Given the description of an element on the screen output the (x, y) to click on. 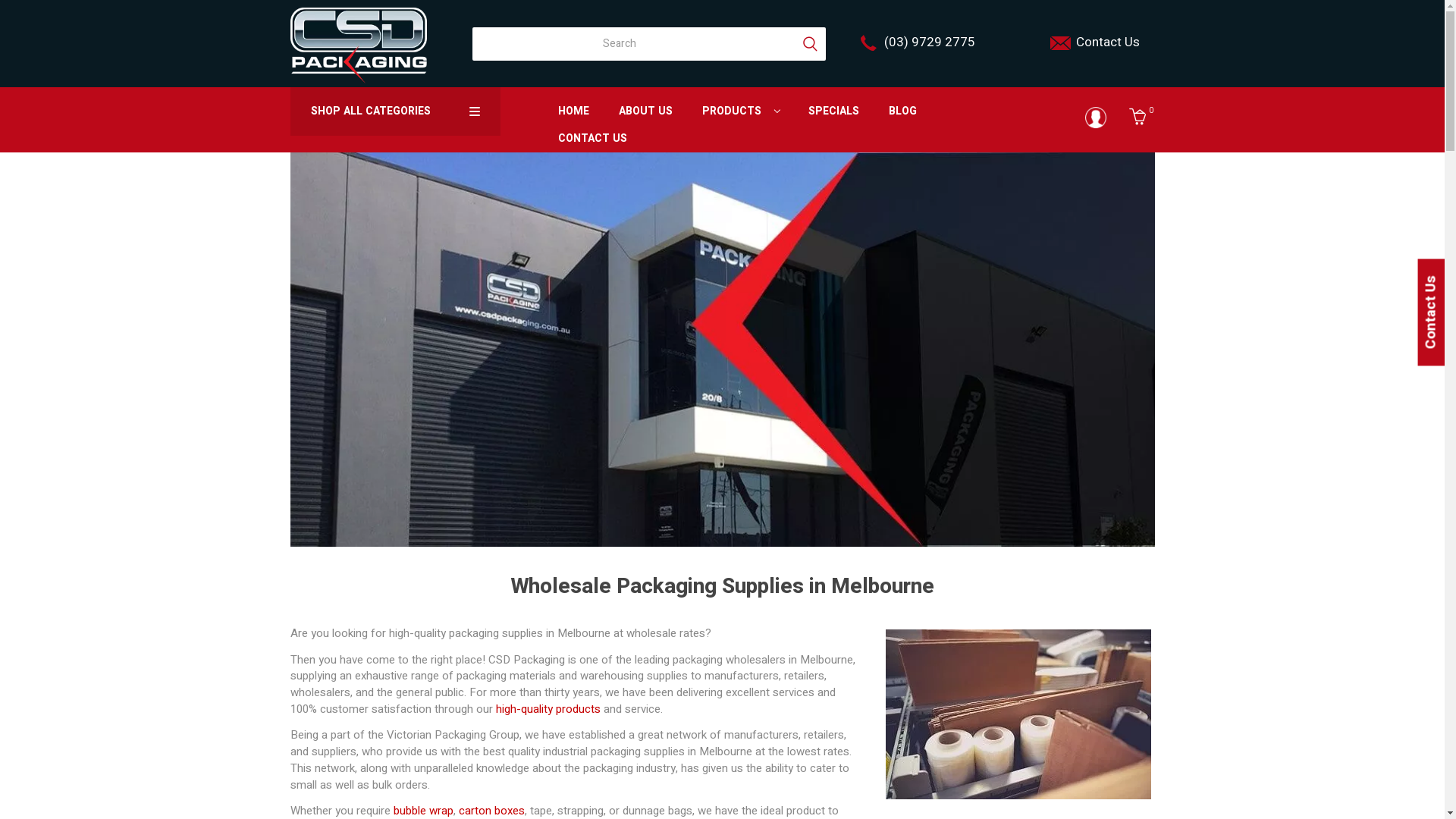
HOME Element type: text (572, 111)
(03) 9729 2775 Element type: text (929, 41)
Search Element type: hover (808, 43)
Search for: Element type: hover (705, 43)
SHOP ALL CATEGORIES Element type: text (395, 111)
ABOUT US Element type: text (645, 111)
high-quality products Element type: text (547, 708)
BLOG Element type: text (902, 111)
PRODUCTS Element type: text (739, 111)
Contact Us Element type: text (1107, 41)
CONTACT US Element type: text (591, 138)
SPECIALS Element type: text (833, 111)
0 Element type: text (1141, 119)
